Given the description of an element on the screen output the (x, y) to click on. 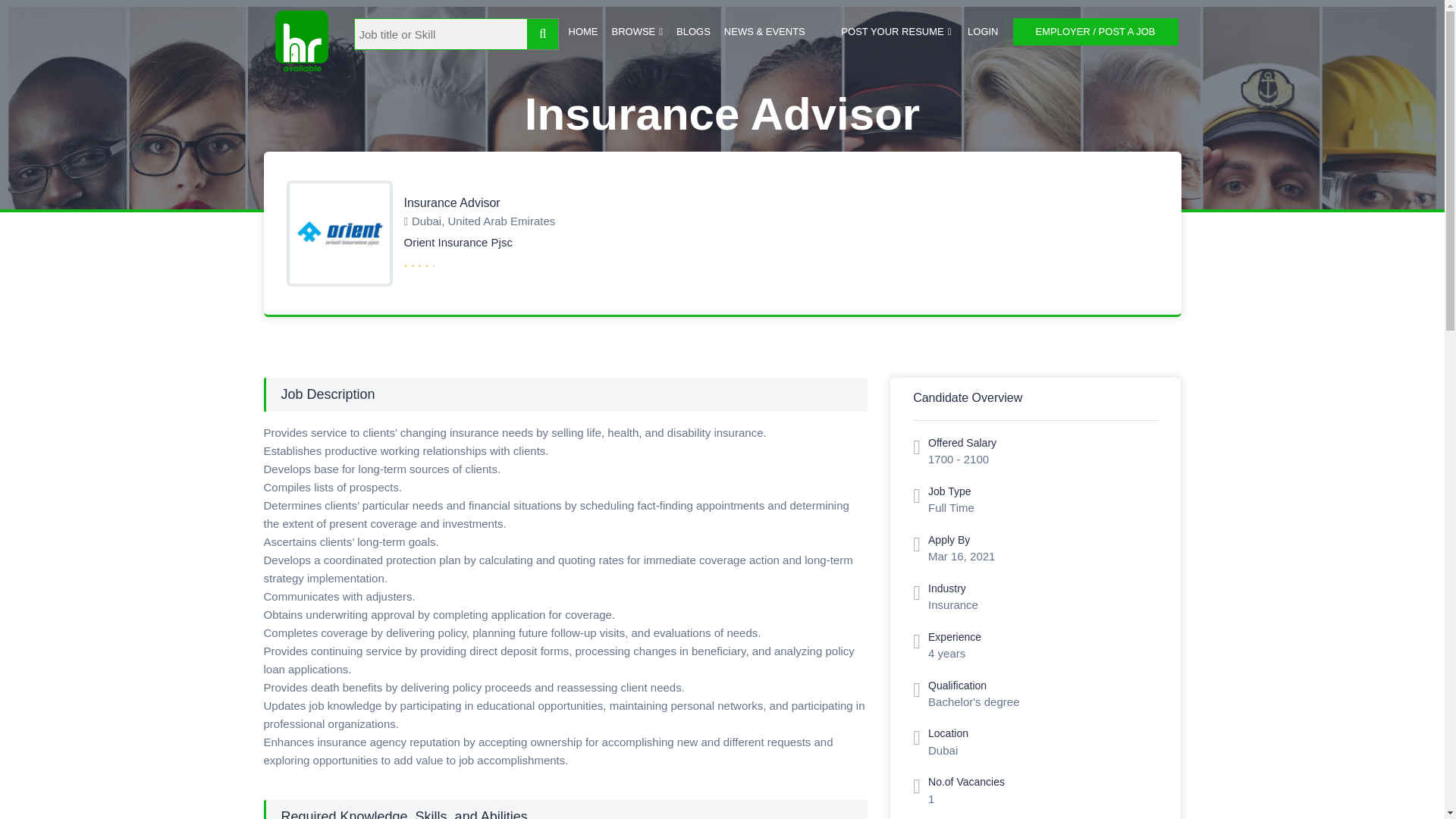
BROWSE (637, 30)
Orient Insurance Pjsc (457, 241)
BLOGS (693, 30)
LOGIN (980, 30)
POST YOUR RESUME (896, 30)
Jobs in Orient Insurance Pjsc (457, 241)
HOME (582, 30)
